Given the description of an element on the screen output the (x, y) to click on. 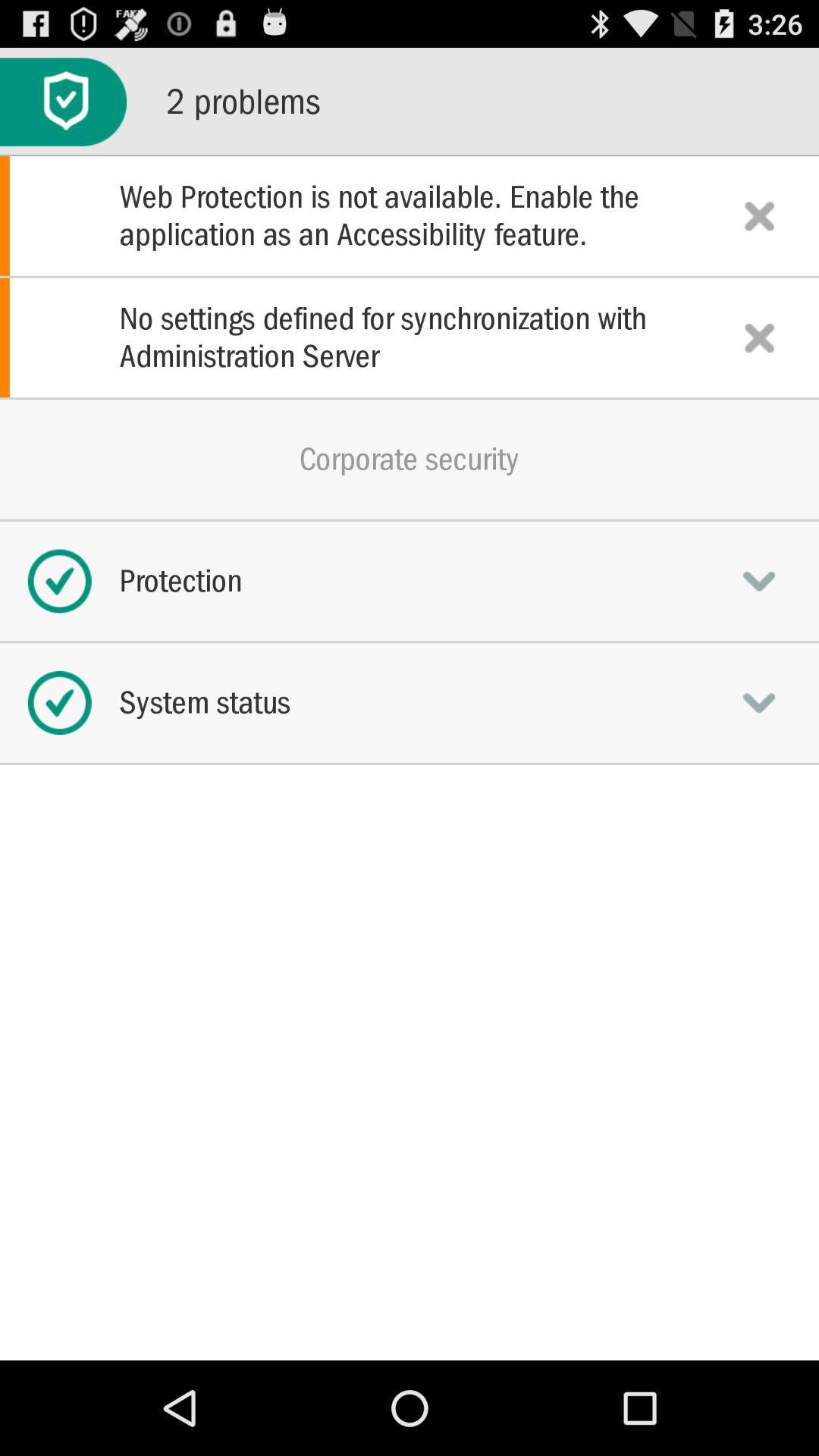
scroll to the no settings defined app (409, 337)
